Given the description of an element on the screen output the (x, y) to click on. 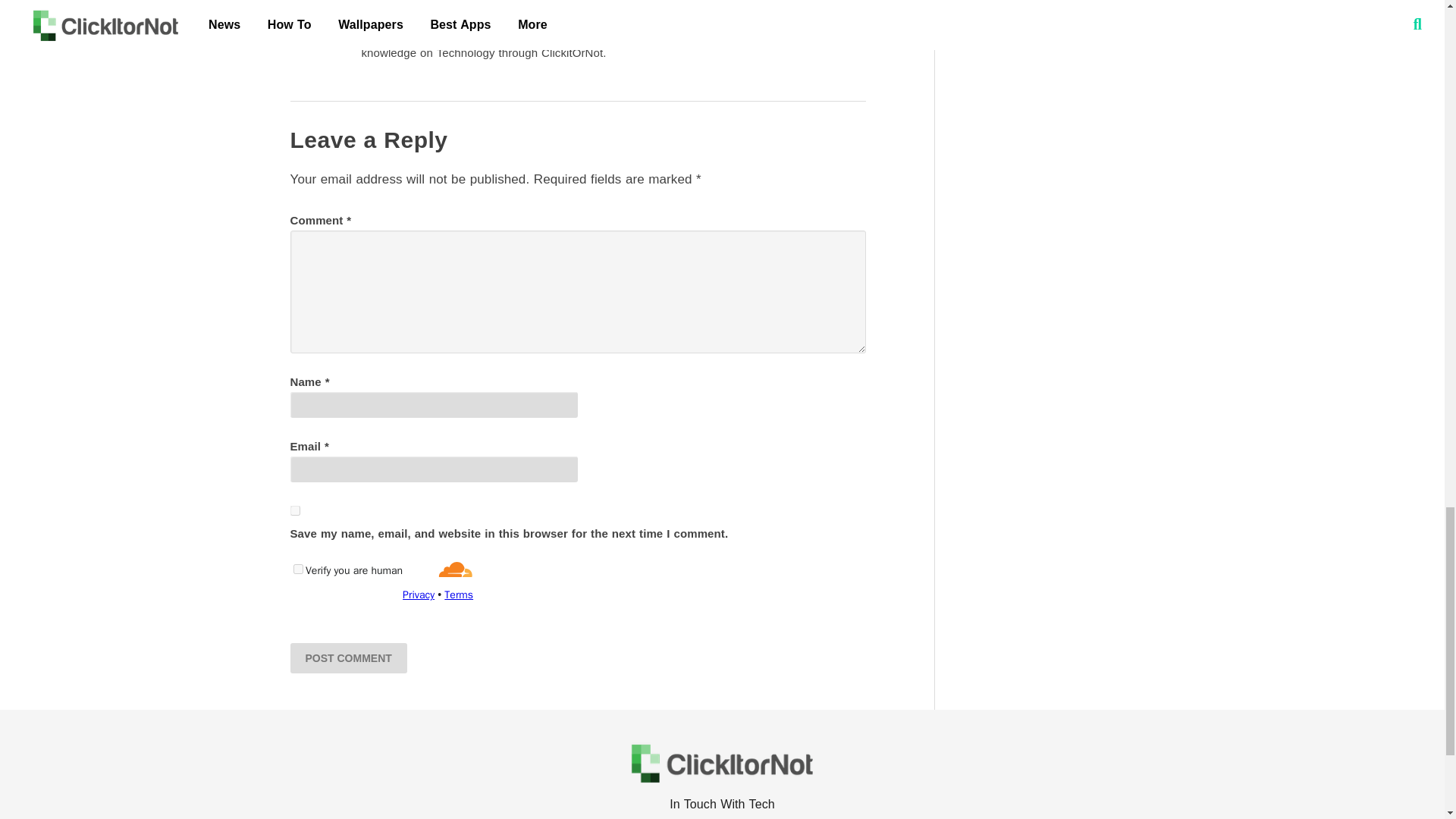
Admin (386, 8)
yes (294, 510)
Post Comment (347, 657)
Post Comment (347, 657)
